Given the description of an element on the screen output the (x, y) to click on. 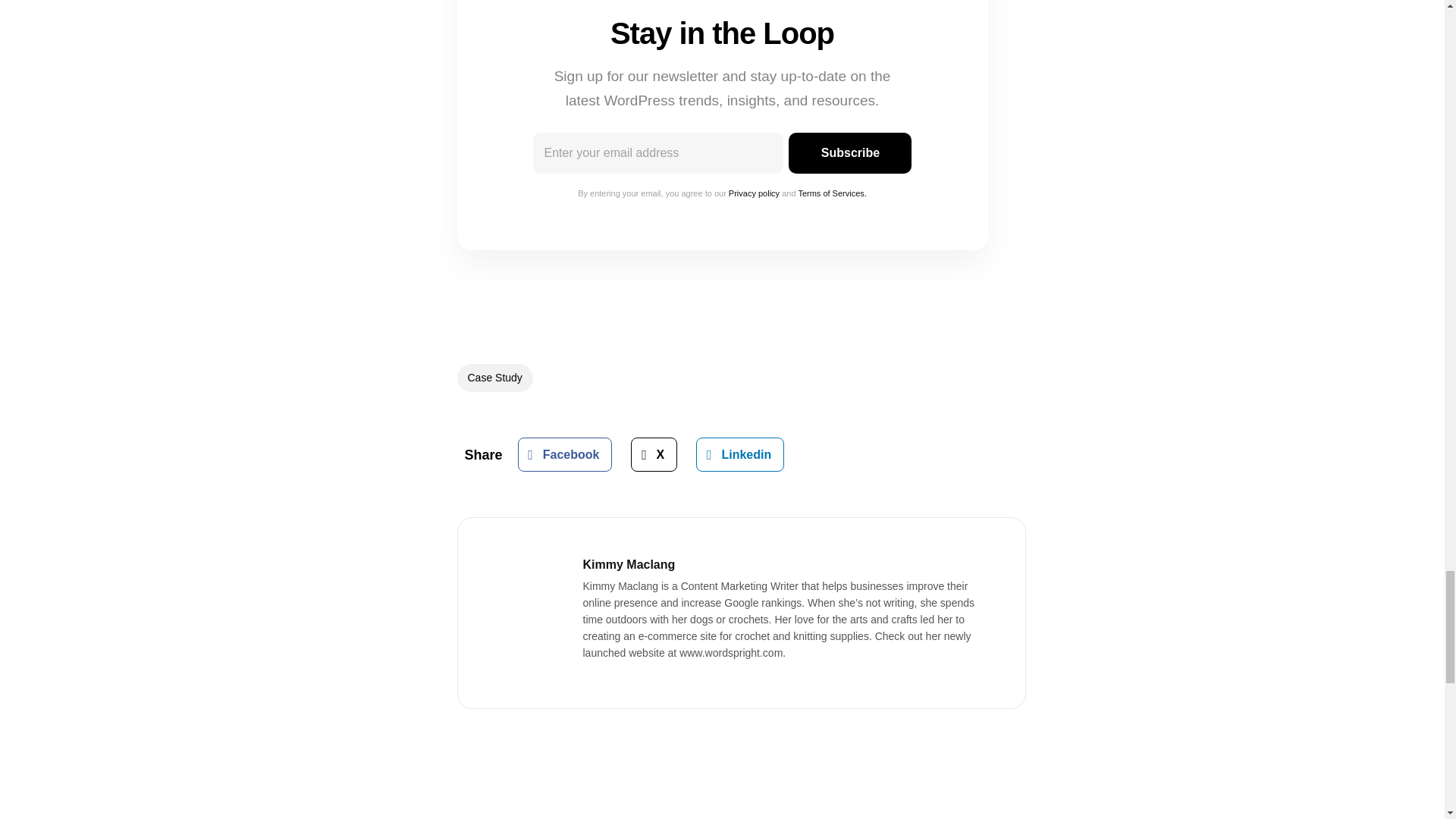
Privacy policy (753, 193)
Terms of Services. (831, 193)
Case Study (494, 377)
Subscribe (850, 152)
